Given the description of an element on the screen output the (x, y) to click on. 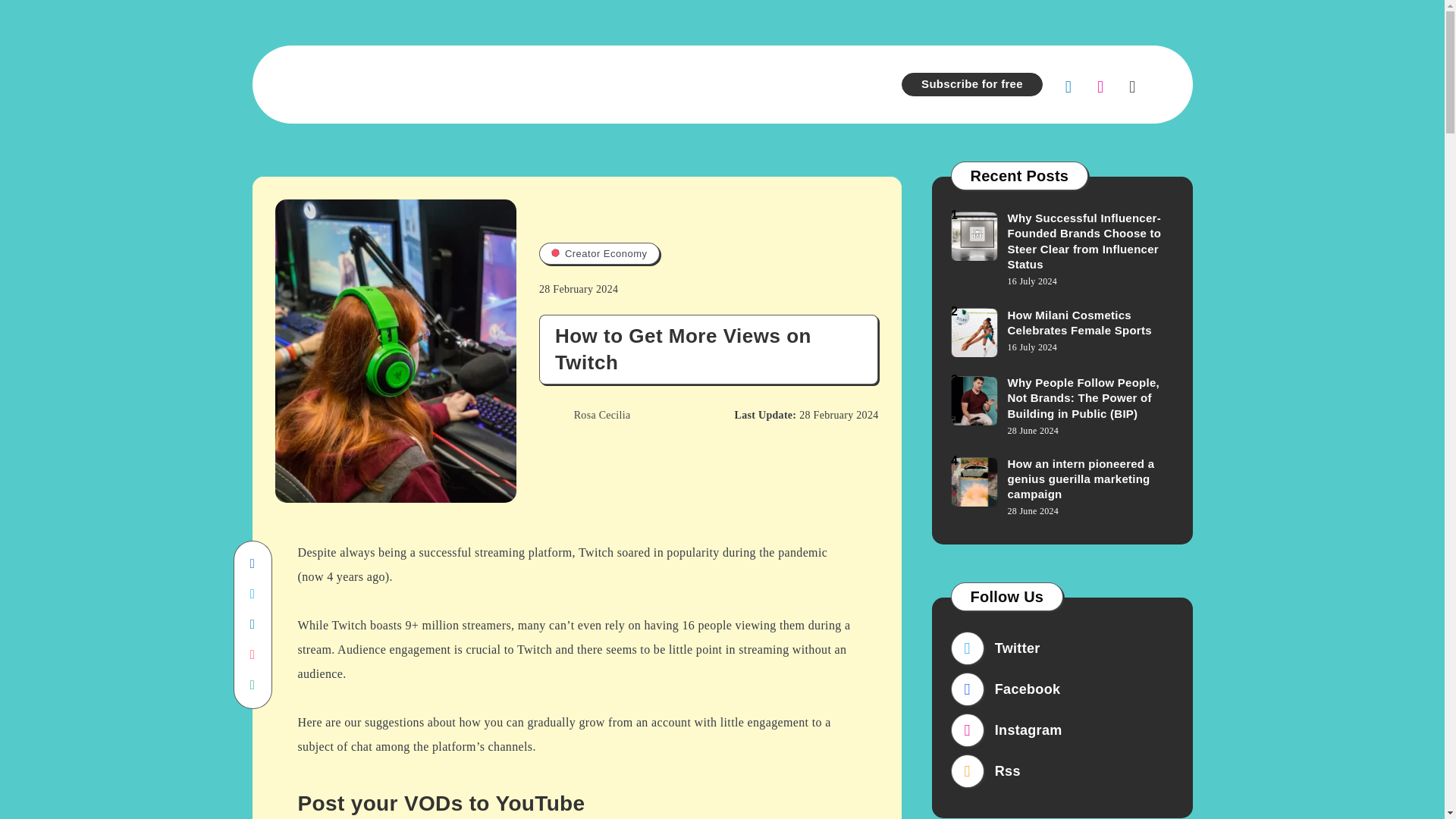
Tech Creator (452, 83)
Rosa Cecilia (584, 414)
Web3 Creator (812, 83)
Author: Rosa Cecilia (584, 414)
Subscribe for free (971, 84)
Creator Creator (713, 83)
AI Odyssey (535, 83)
DTC Creator (619, 83)
Creator Economy (598, 253)
